Given the description of an element on the screen output the (x, y) to click on. 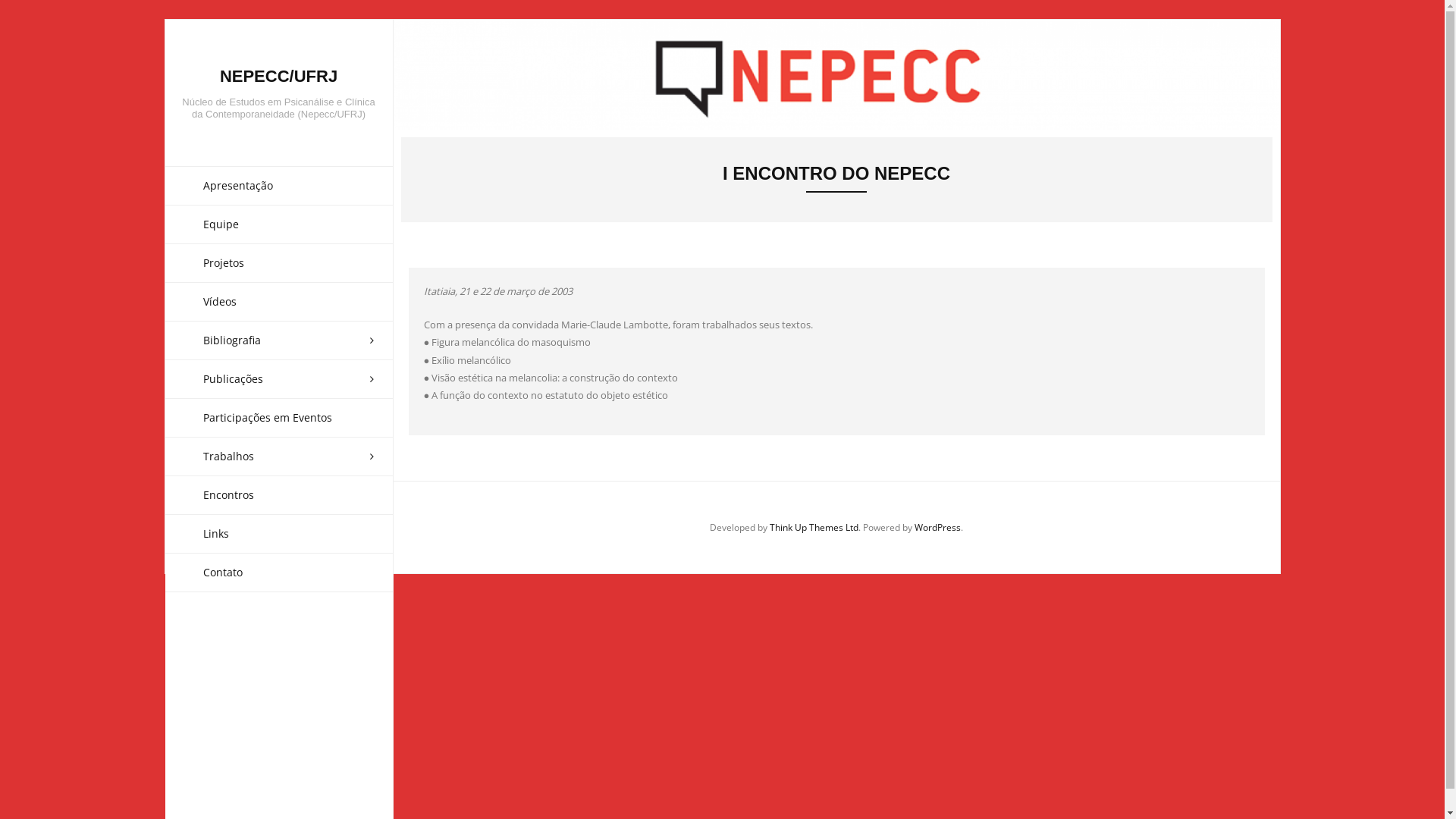
Equipe Element type: text (278, 223)
Think Up Themes Ltd Element type: text (813, 526)
Contato Element type: text (278, 572)
WordPress Element type: text (937, 526)
Links Element type: text (278, 533)
Encontros Element type: text (278, 494)
Trabalhos Element type: text (278, 455)
Bibliografia Element type: text (278, 339)
Projetos Element type: text (278, 262)
